Given the description of an element on the screen output the (x, y) to click on. 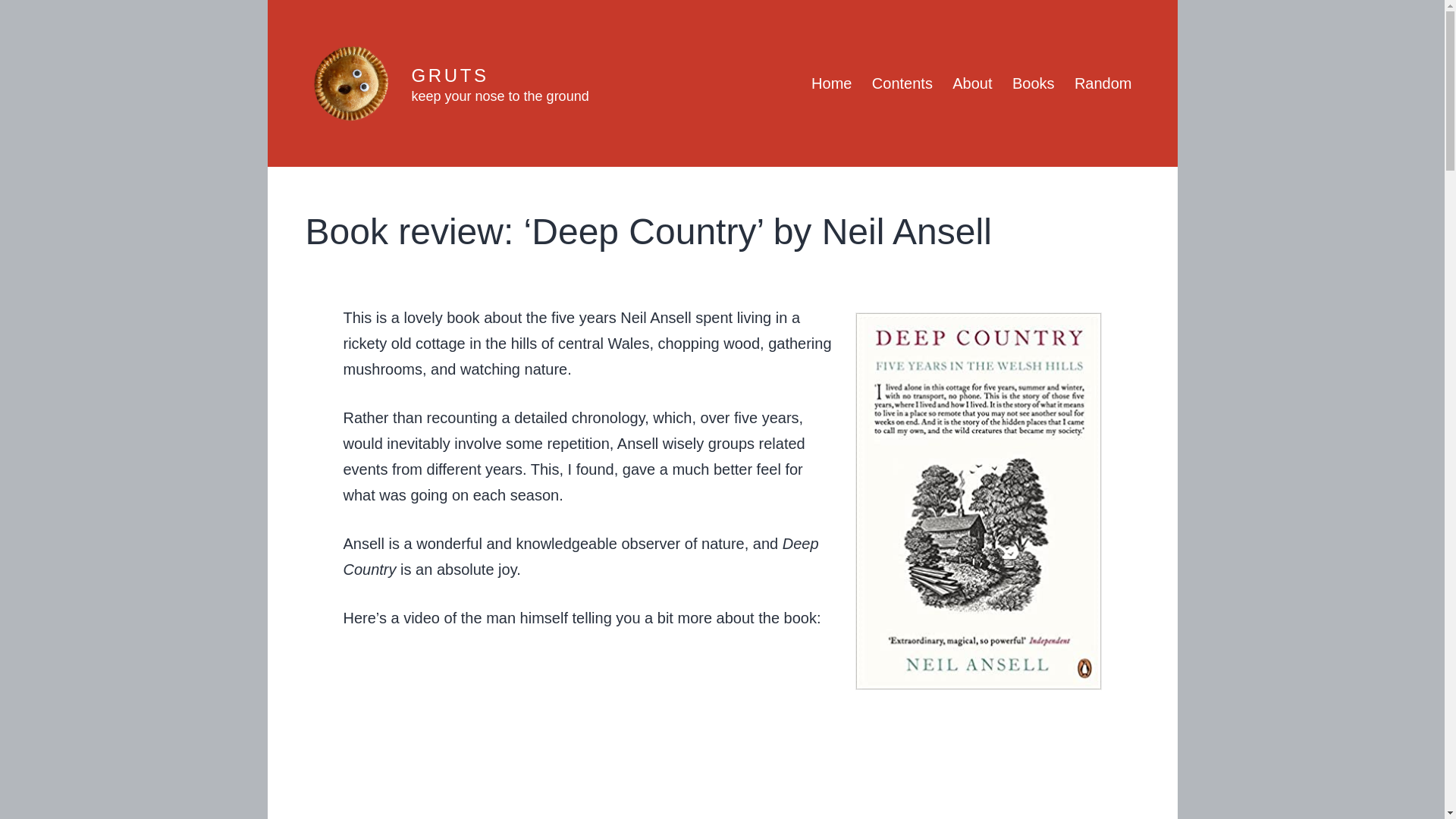
Random Gruts post (1102, 82)
Neil Ansell - Deep Country (721, 736)
Random taglines (499, 96)
Books (1033, 82)
Home (831, 82)
GRUTS (448, 75)
Book reviews (1033, 82)
Contents (901, 82)
About (972, 82)
keep your nose to the ground (499, 96)
